Given the description of an element on the screen output the (x, y) to click on. 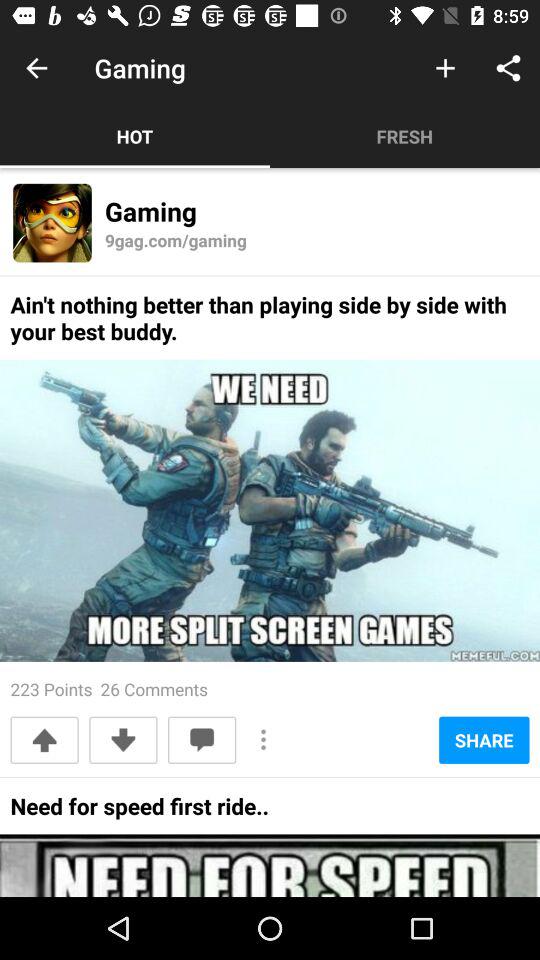
open the icon next to the gaming (444, 67)
